Given the description of an element on the screen output the (x, y) to click on. 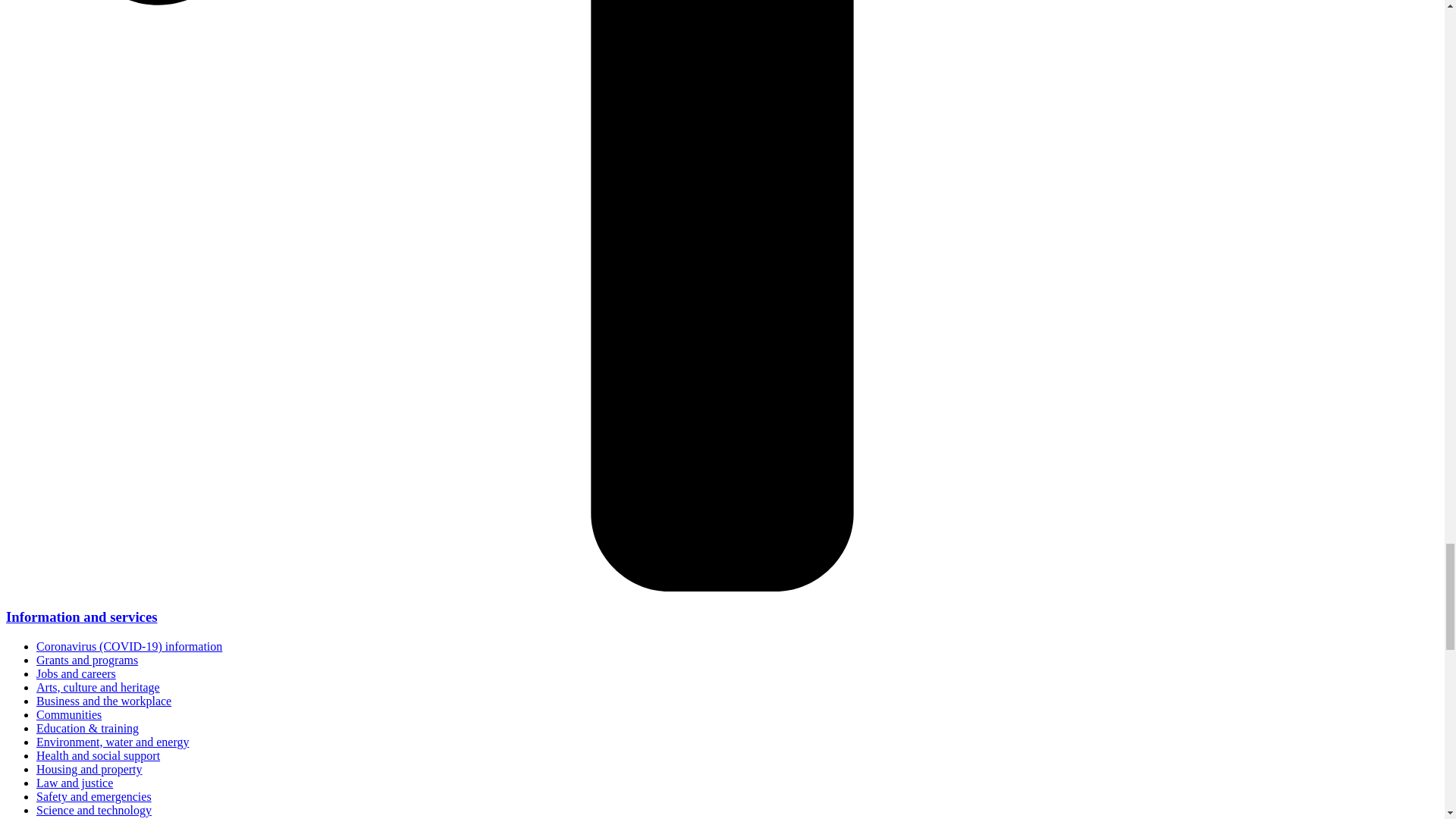
Arts, culture and heritage (98, 686)
Science and technology (93, 809)
Business and the workplace (103, 700)
Safety and emergencies (93, 796)
Law and justice (74, 782)
Housing and property (89, 768)
Environment, water and energy (112, 741)
Sport and recreation (85, 818)
Jobs and careers (76, 673)
Health and social support (98, 755)
Grants and programs (87, 659)
Communities (68, 714)
Information and services (81, 616)
